Given the description of an element on the screen output the (x, y) to click on. 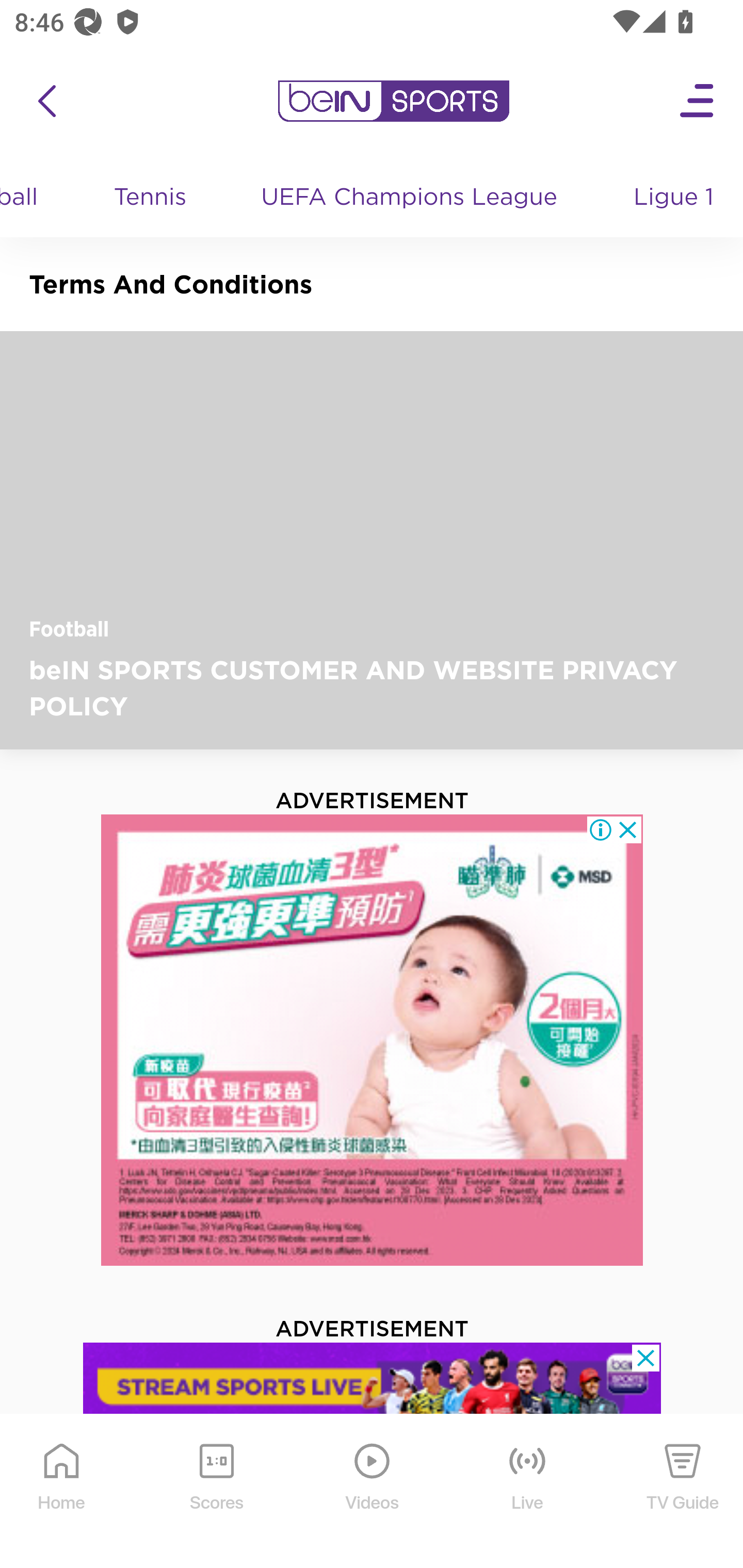
en-my?platform=mobile_android bein logo (392, 101)
icon back (46, 101)
Open Menu Icon (697, 101)
Tennis (150, 198)
UEFA Champions League (410, 198)
Ligue 1 (675, 198)
Advertisement (372, 1039)
l8psv8uu (372, 1387)
Home Home Icon Home (61, 1491)
Scores Scores Icon Scores (216, 1491)
Videos Videos Icon Videos (372, 1491)
TV Guide TV Guide Icon TV Guide (682, 1491)
